Given the description of an element on the screen output the (x, y) to click on. 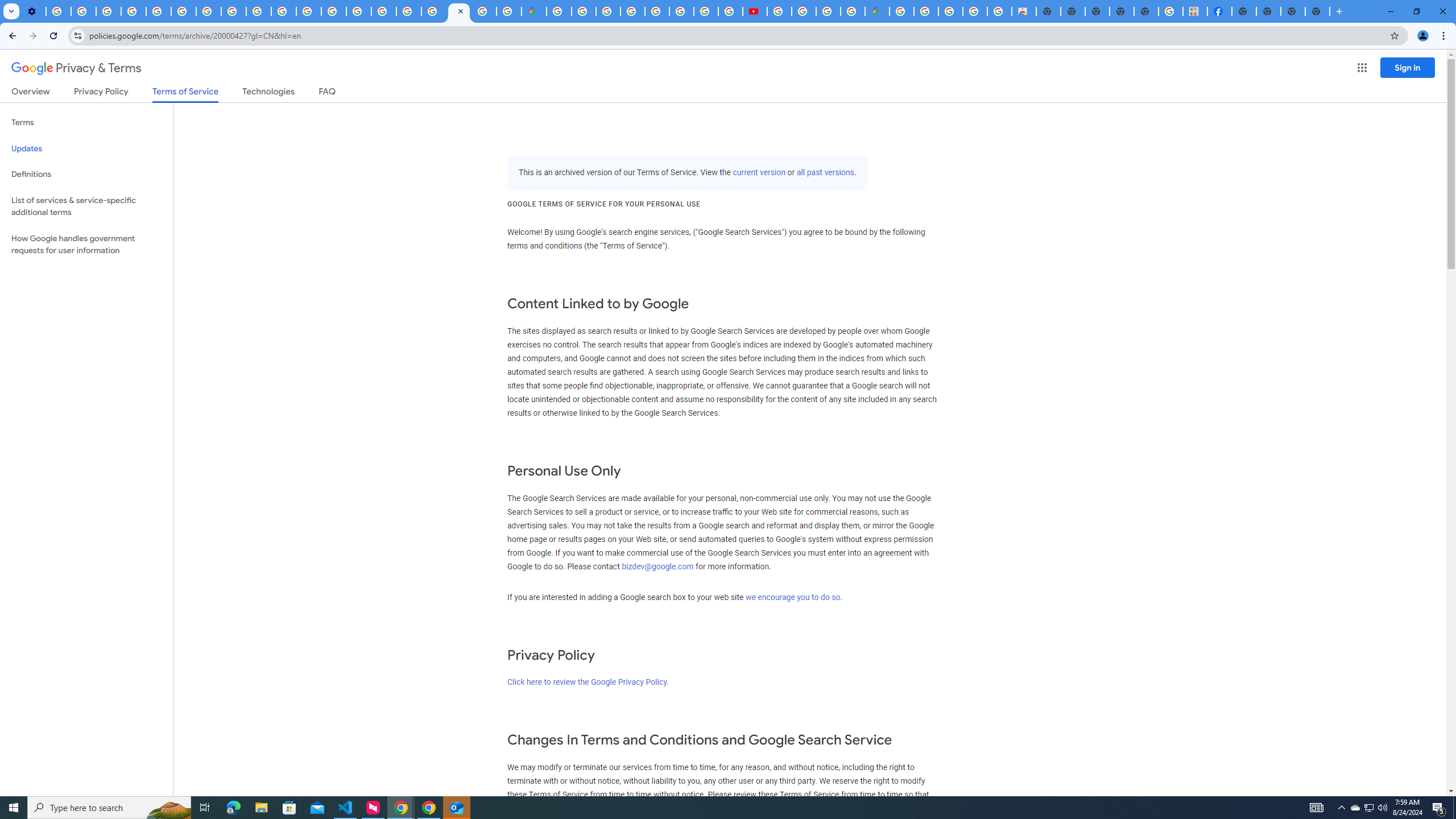
we encourage you to do so (792, 596)
Google Maps (876, 11)
bizdev@google.com  (658, 566)
